Given the description of an element on the screen output the (x, y) to click on. 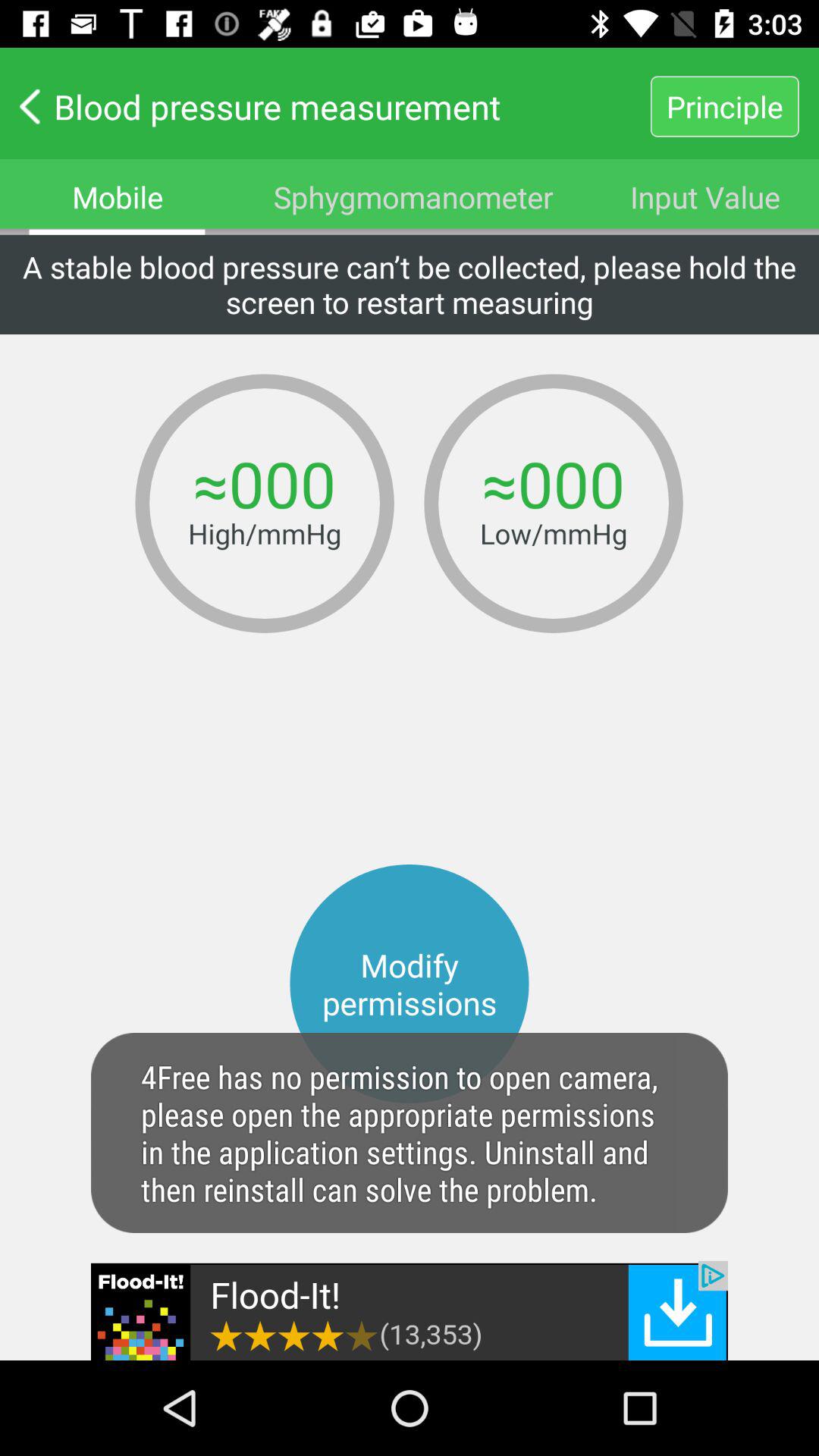
find out about the advertisement (409, 1310)
